Given the description of an element on the screen output the (x, y) to click on. 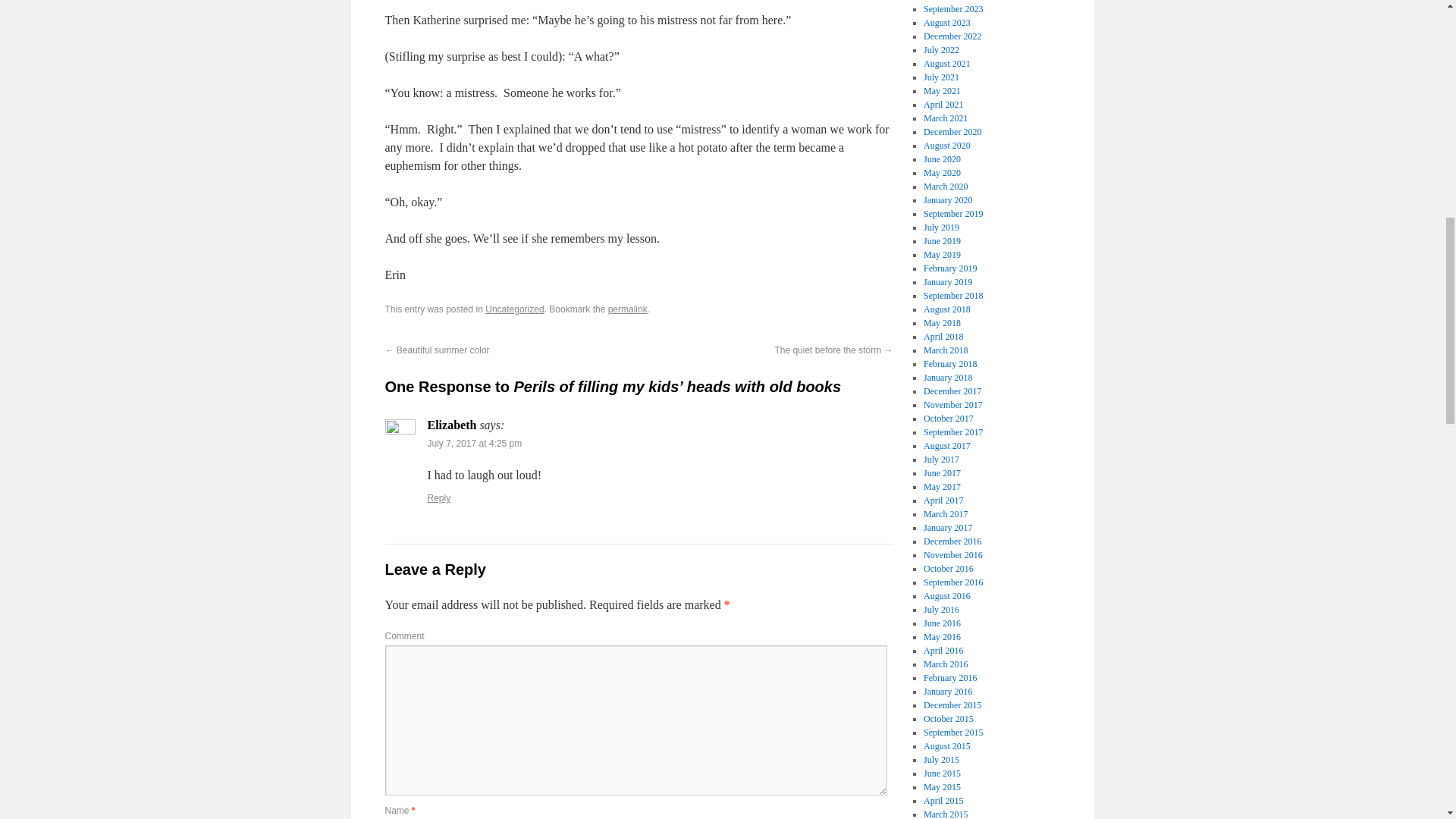
June 2020 (941, 158)
August 2021 (947, 63)
August 2023 (947, 22)
July 7, 2017 at 4:25 pm (475, 443)
May 2020 (941, 172)
permalink (627, 308)
May 2021 (941, 90)
April 2021 (942, 104)
July 2022 (941, 50)
September 2023 (952, 9)
